Given the description of an element on the screen output the (x, y) to click on. 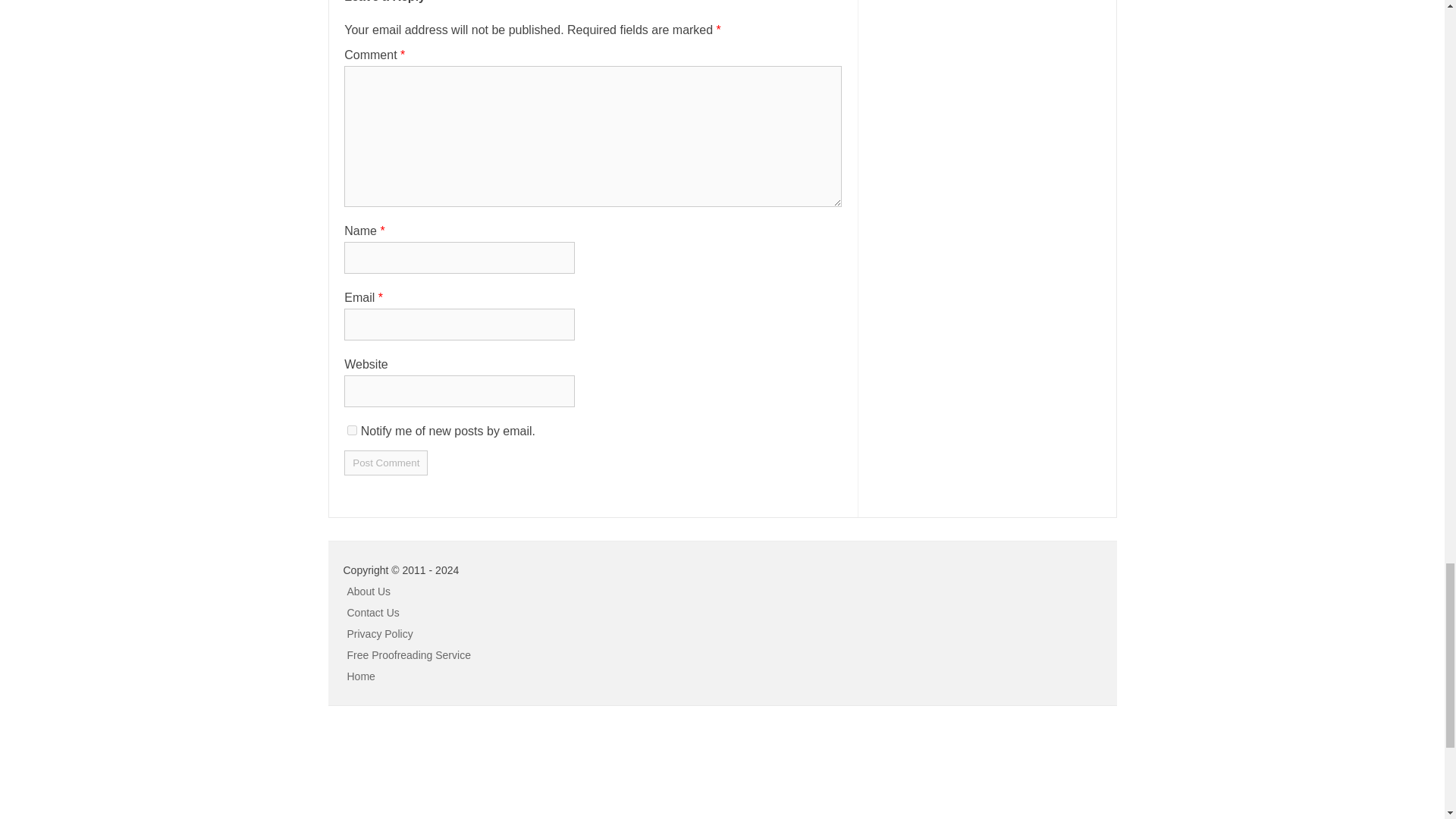
Advertisement (113, 771)
Post Comment (385, 462)
Post Comment (385, 462)
subscribe (351, 429)
Free Proofreading Service (408, 654)
About Us (369, 591)
Home (361, 676)
Privacy Policy (380, 633)
Contact Us (372, 612)
